Given the description of an element on the screen output the (x, y) to click on. 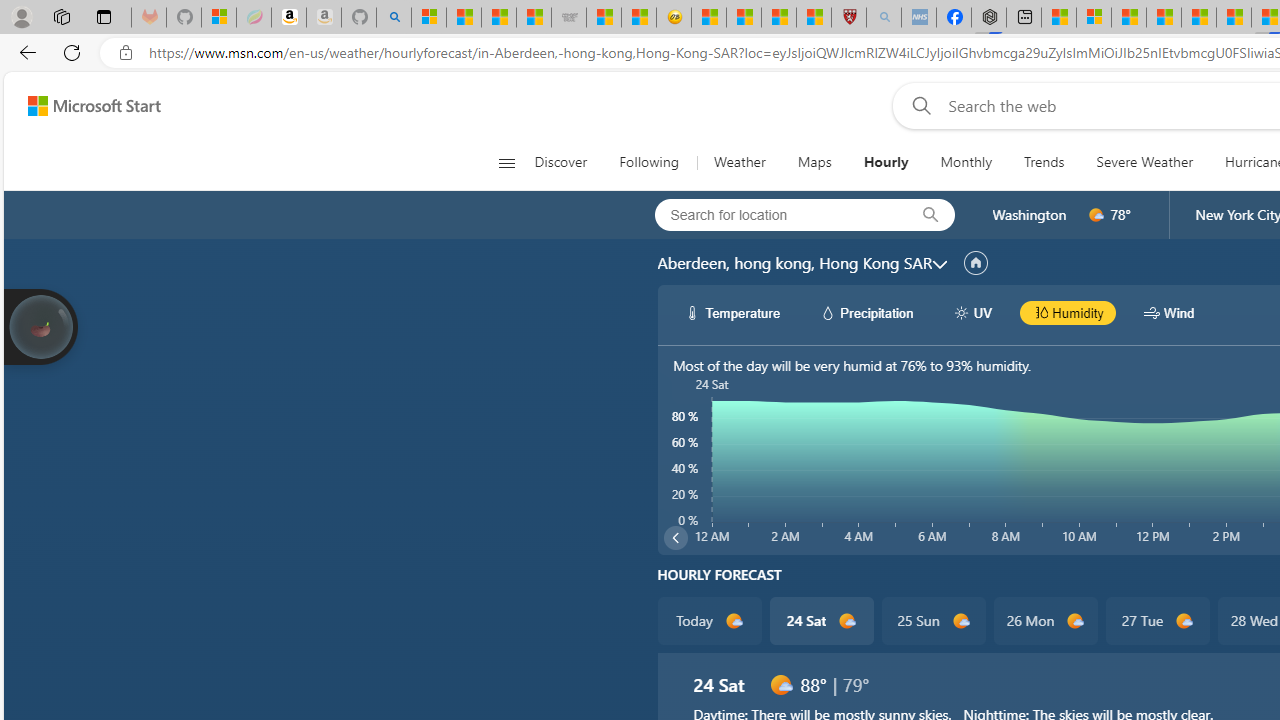
Today d1000 (708, 620)
27 Tue d1000 (1156, 620)
hourlyChart/uvWhite UV (972, 312)
25 Sun d1000 (932, 620)
common/carouselChevron (675, 538)
hourlyChart/precipitationWhite Precipitation (866, 312)
hourlyChart/windWhite Wind (1169, 312)
